Given the description of an element on the screen output the (x, y) to click on. 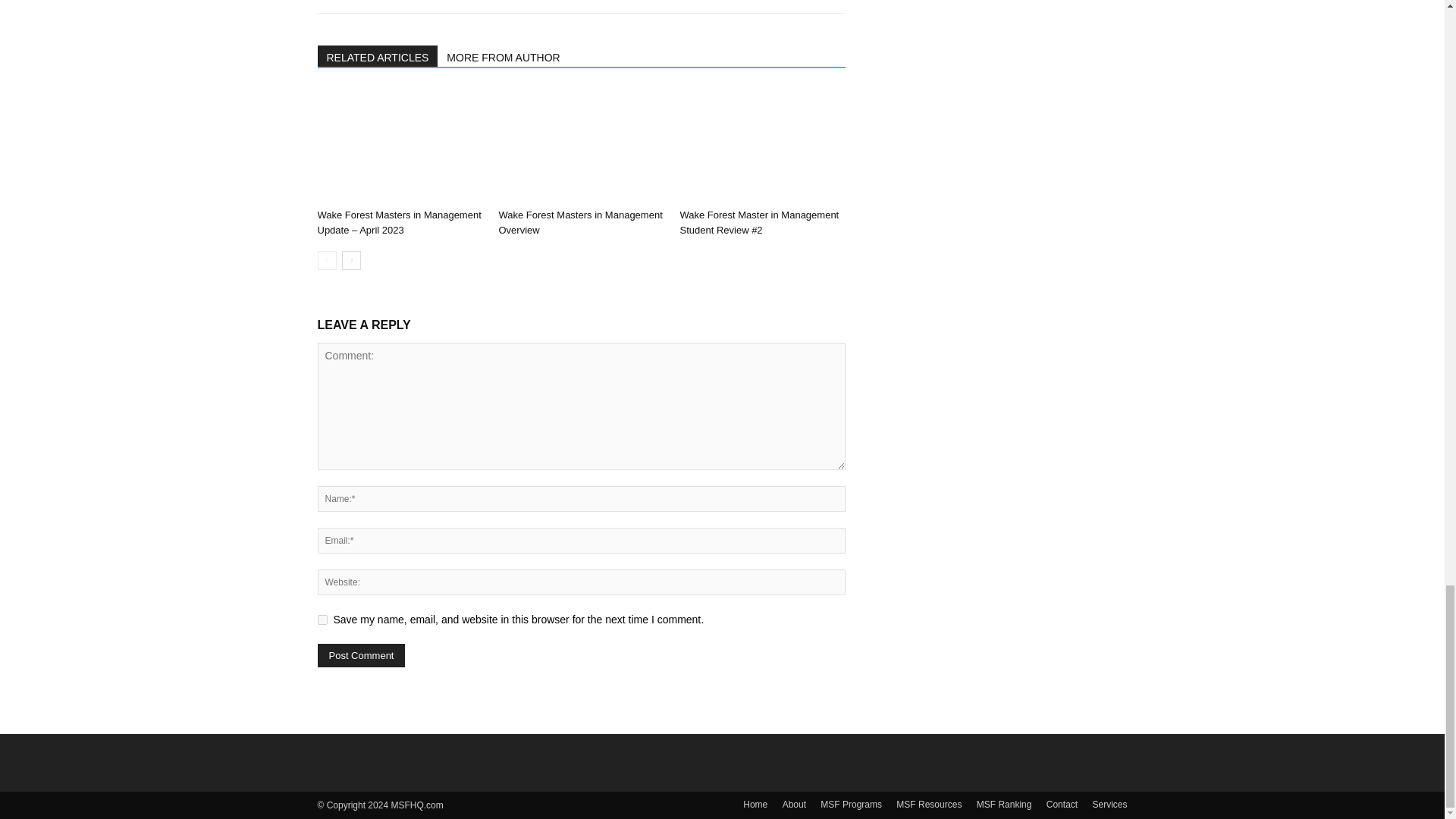
Post Comment (360, 655)
yes (321, 619)
